Given the description of an element on the screen output the (x, y) to click on. 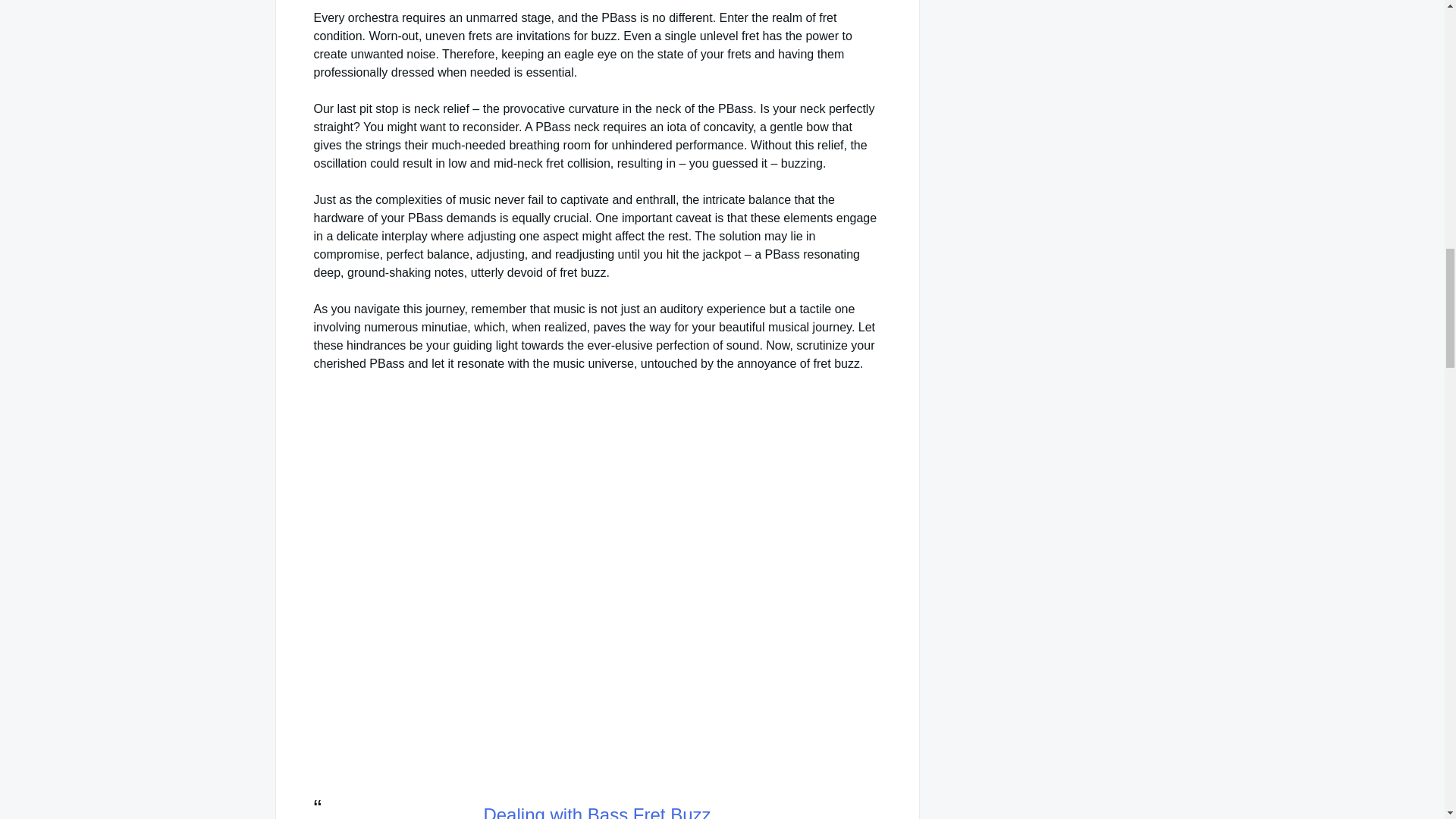
Dealing with Bass Fret Buzz (596, 811)
